Given the description of an element on the screen output the (x, y) to click on. 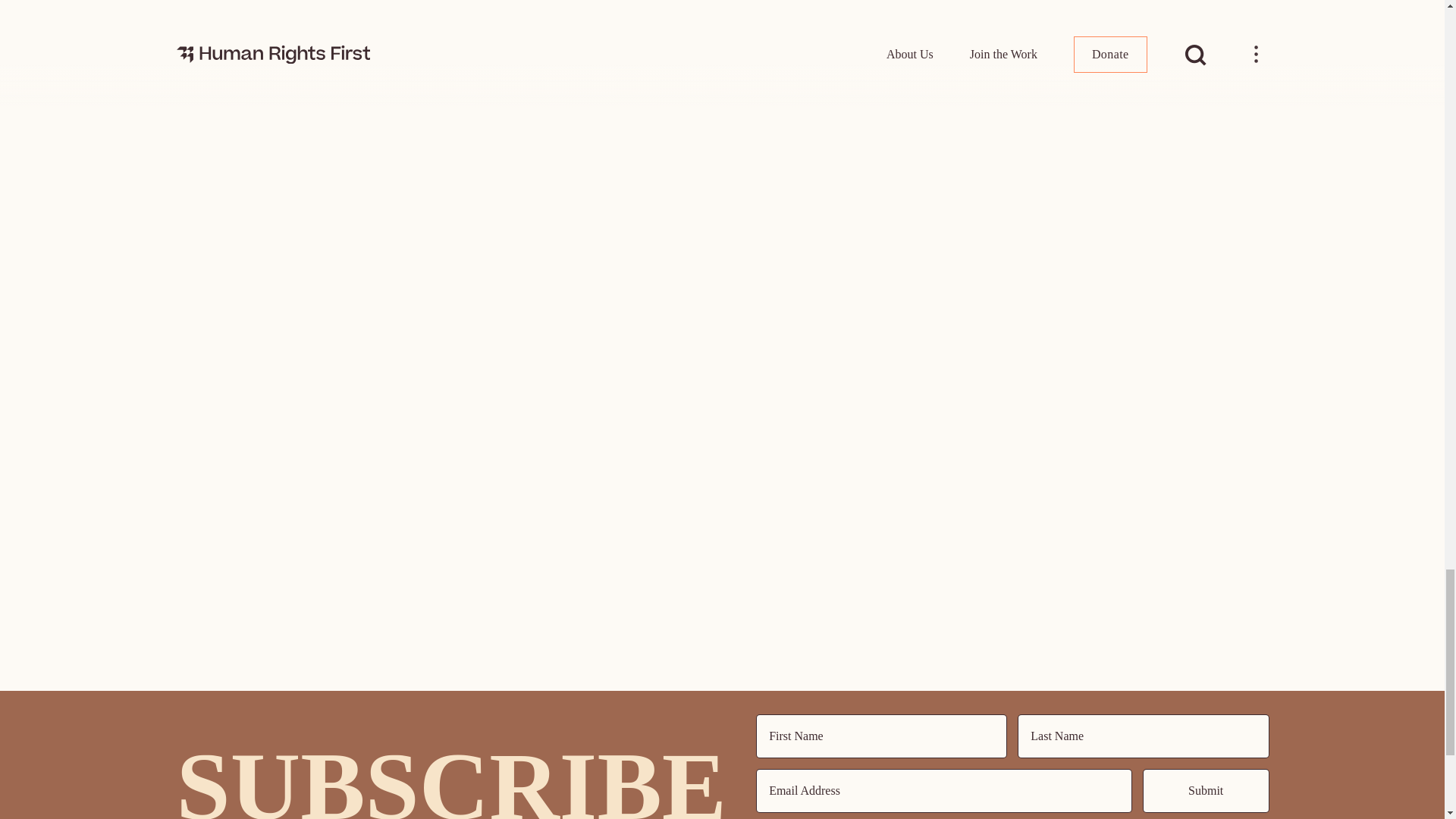
Submit (1205, 790)
